Given the description of an element on the screen output the (x, y) to click on. 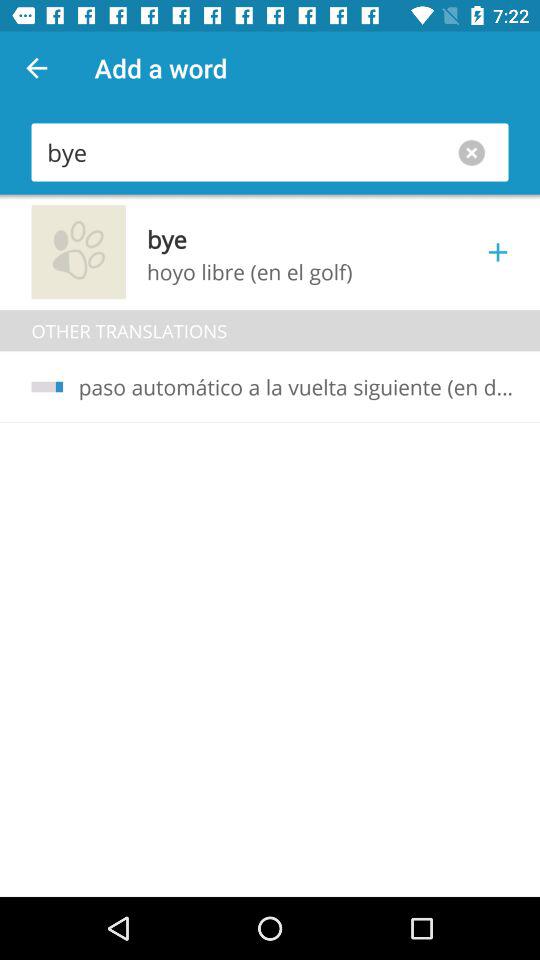
close option (476, 152)
